Given the description of an element on the screen output the (x, y) to click on. 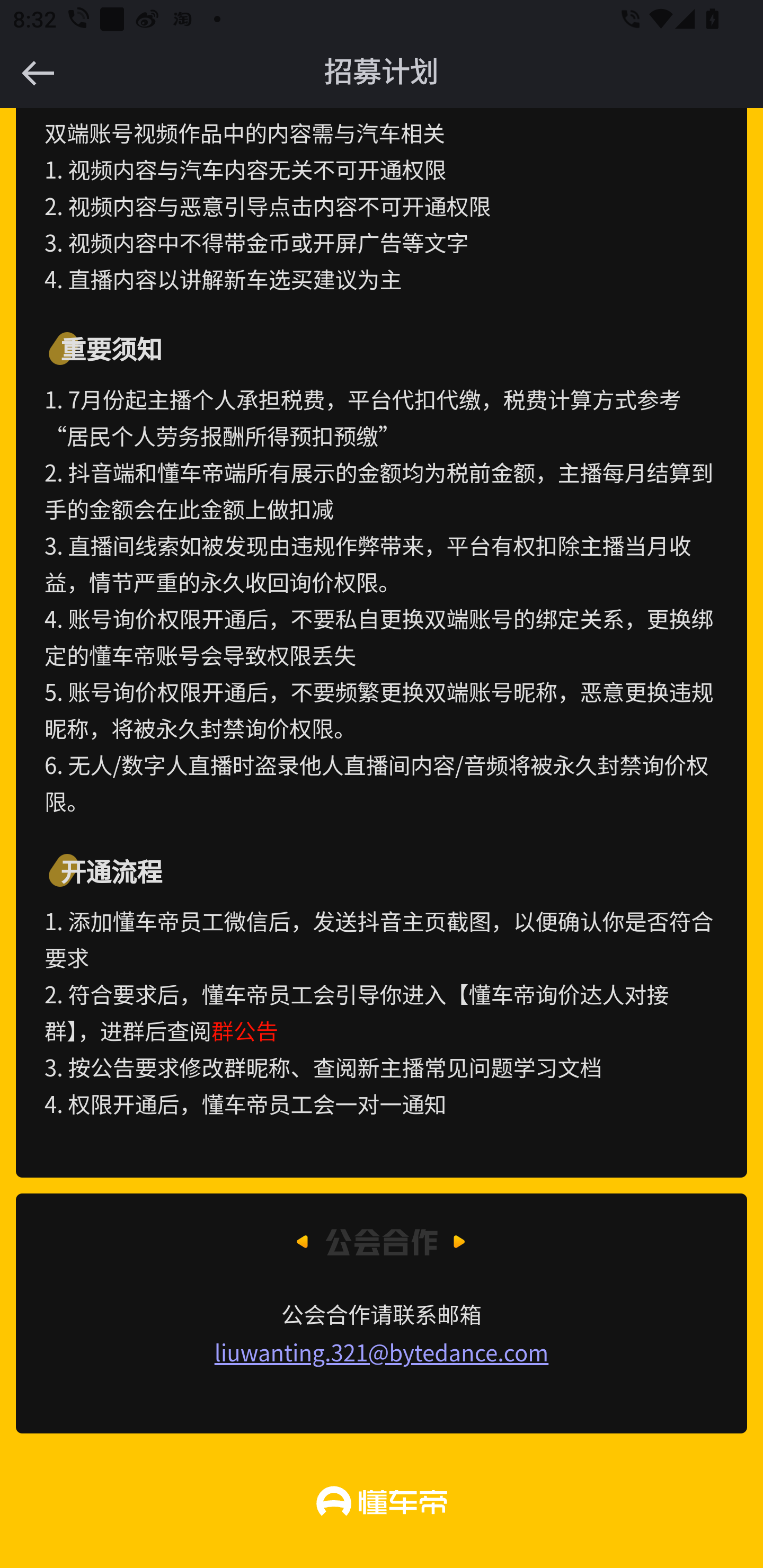
招募计划 (381, 72)
liuwanting.321@bytedance.com (381, 1352)
